Given the description of an element on the screen output the (x, y) to click on. 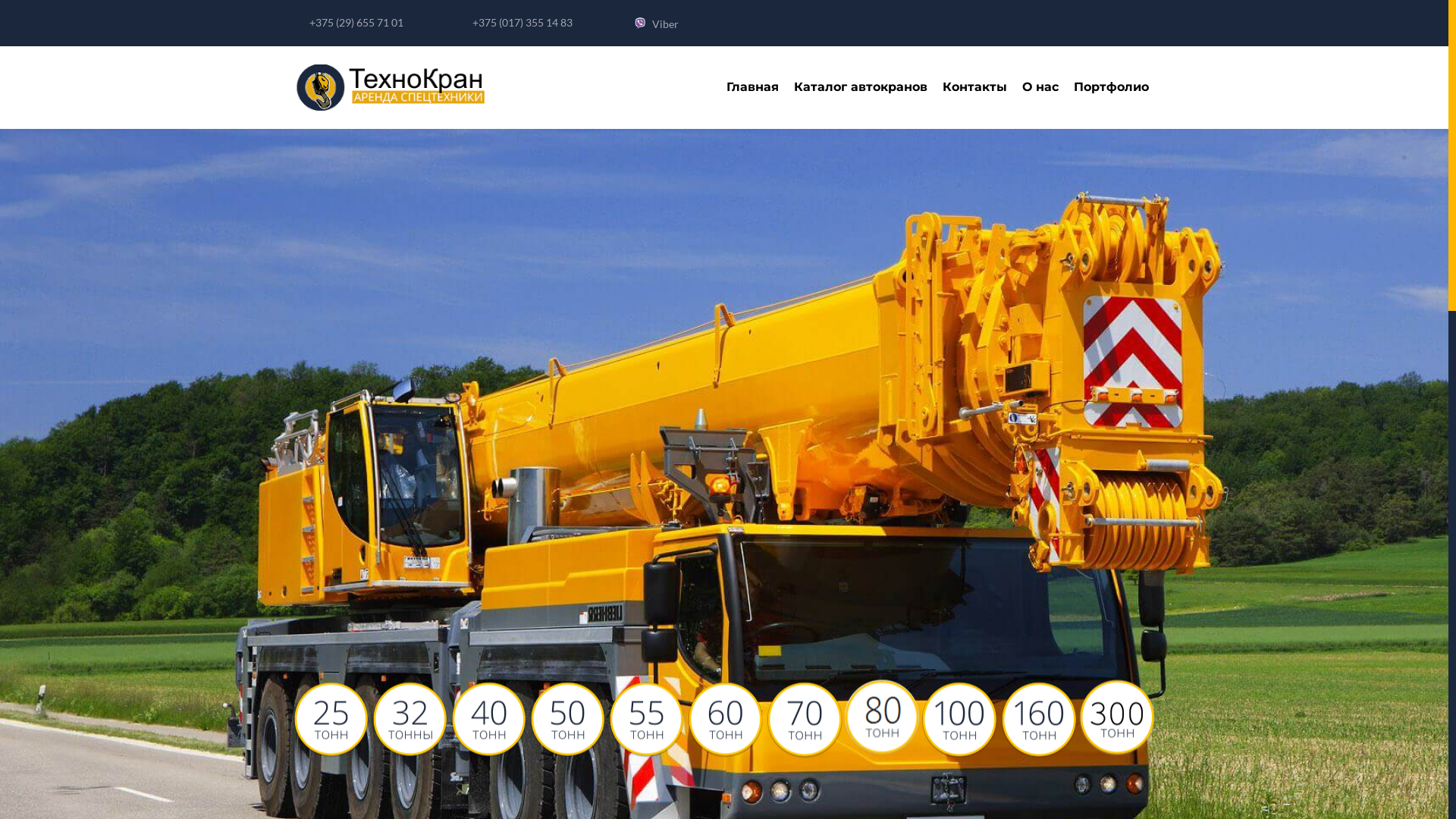
+375 (29) 655 71 01 Element type: text (356, 21)
+375 (017) 355 14 83 Element type: text (522, 21)
Viber Element type: text (665, 23)
